Given the description of an element on the screen output the (x, y) to click on. 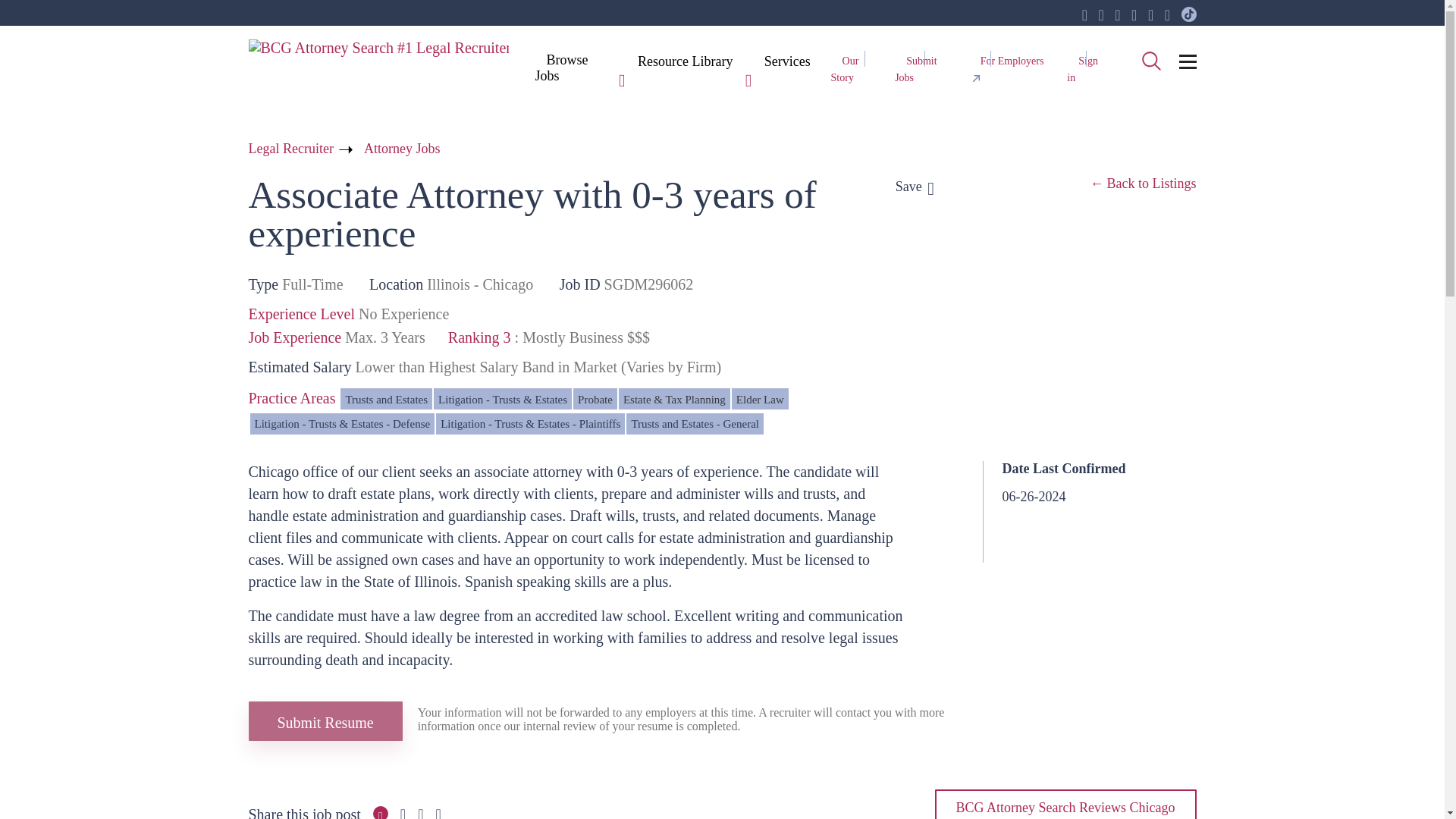
Resource Library (685, 62)
BCG Attorney Search Tiktok (1188, 14)
Share on Facebook (380, 812)
Services (787, 62)
Browse Jobs (561, 67)
